Given the description of an element on the screen output the (x, y) to click on. 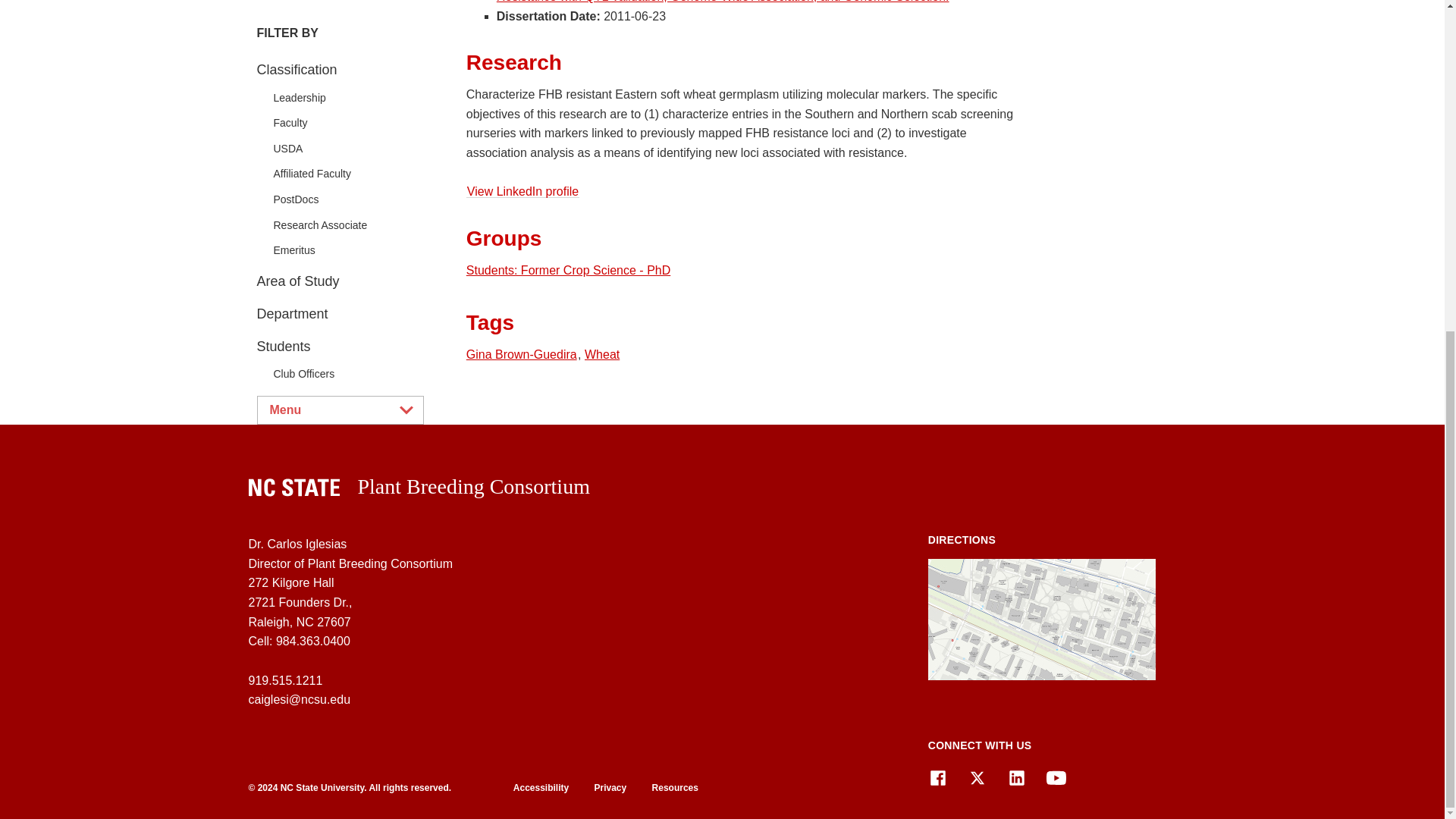
LinkedIn (1016, 777)
YouTube (1055, 777)
X (977, 777)
Facebook (937, 777)
